Given the description of an element on the screen output the (x, y) to click on. 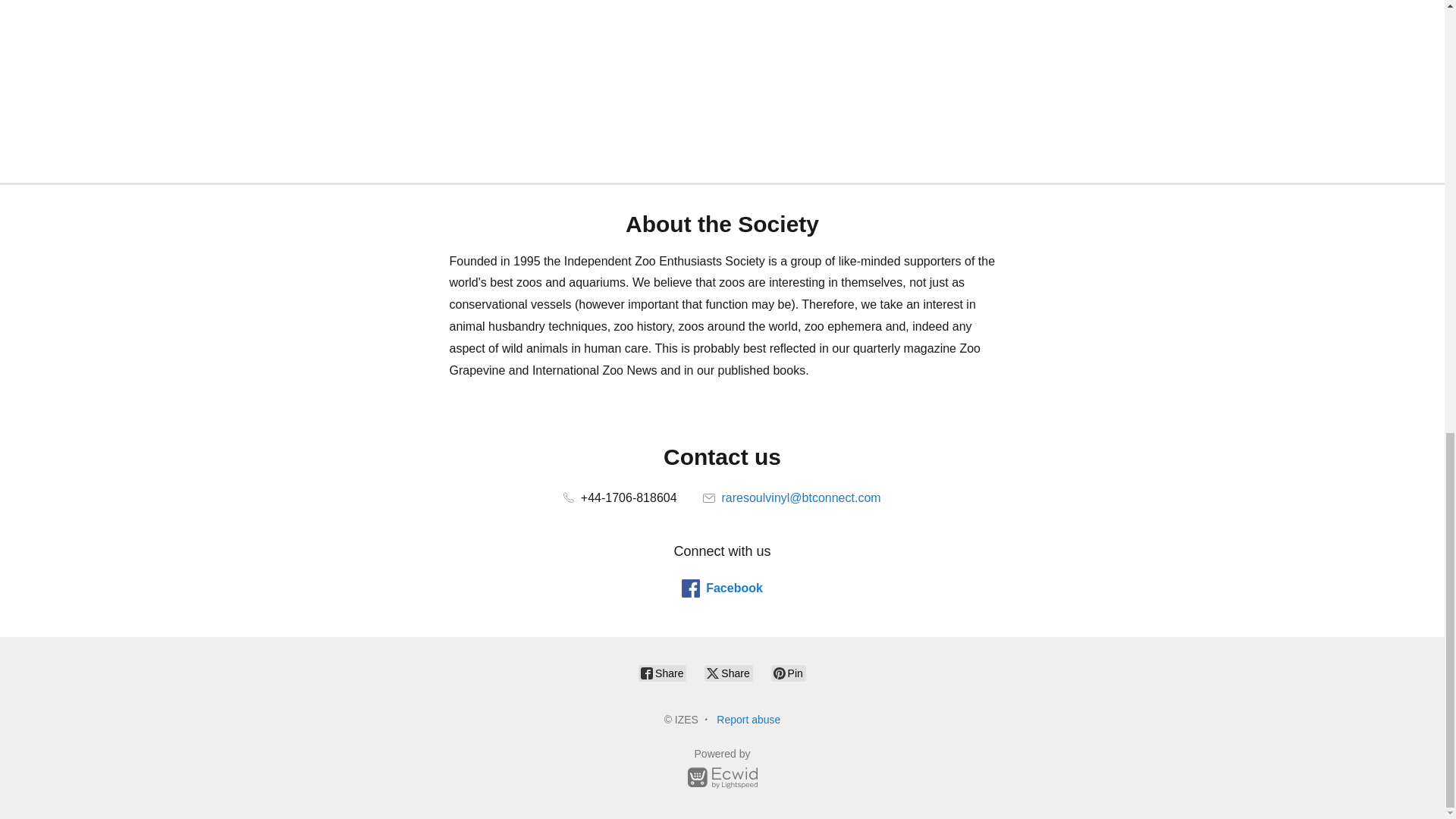
Share (662, 673)
Pin (788, 673)
Powered by (722, 770)
Share (728, 673)
Report abuse (748, 719)
Facebook (721, 588)
